Given the description of an element on the screen output the (x, y) to click on. 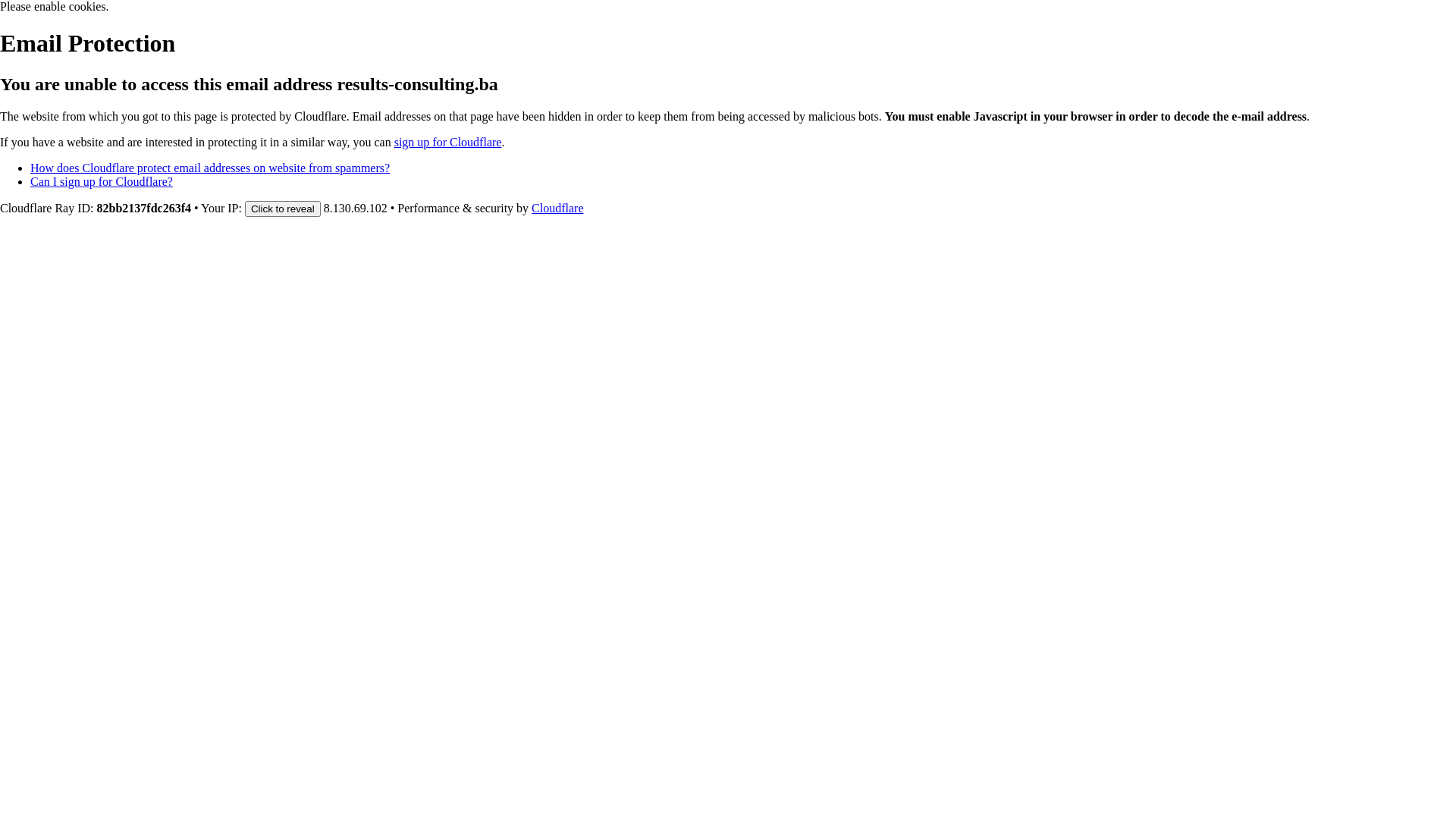
Can I sign up for Cloudflare? Element type: text (101, 181)
Cloudflare Element type: text (557, 207)
Click to reveal Element type: text (282, 208)
sign up for Cloudflare Element type: text (448, 141)
